Given the description of an element on the screen output the (x, y) to click on. 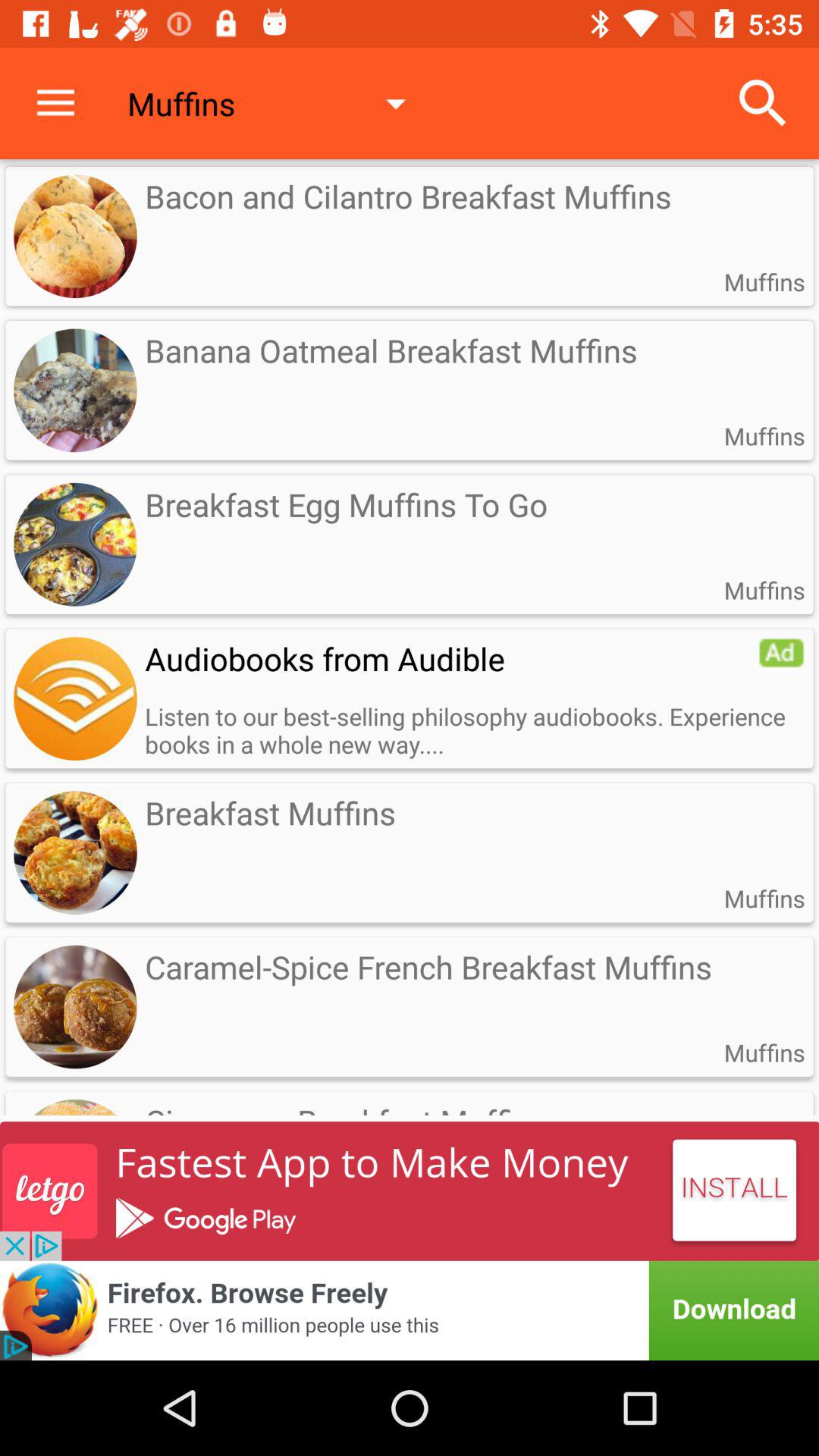
add the option (781, 652)
